Given the description of an element on the screen output the (x, y) to click on. 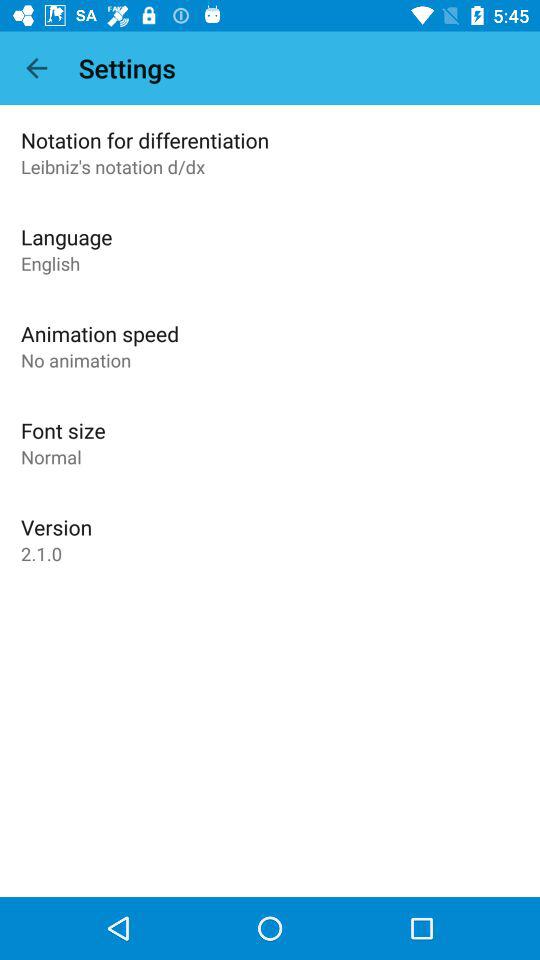
turn on item to the left of settings icon (36, 68)
